Given the description of an element on the screen output the (x, y) to click on. 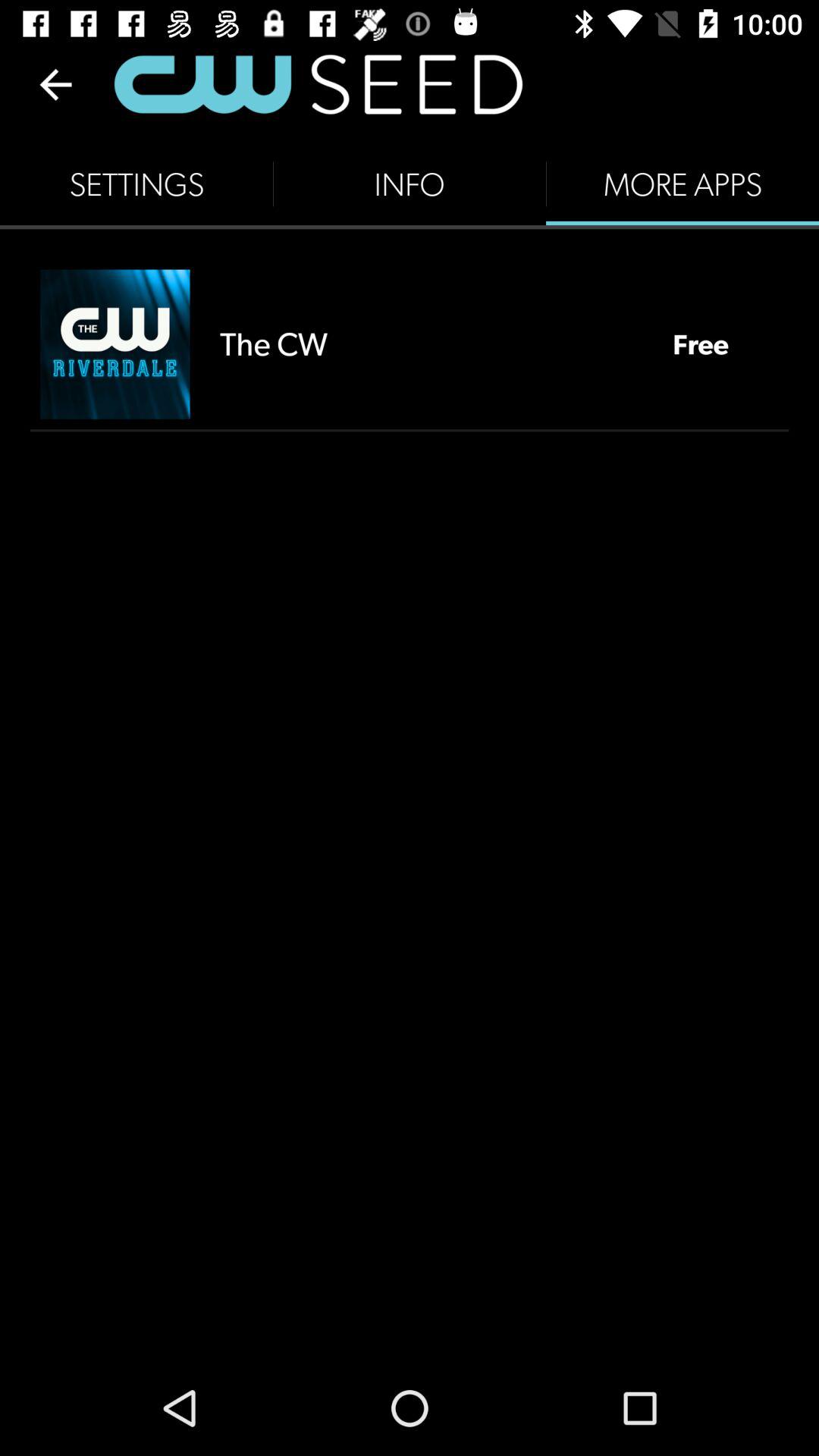
launch the cw (431, 343)
